Given the description of an element on the screen output the (x, y) to click on. 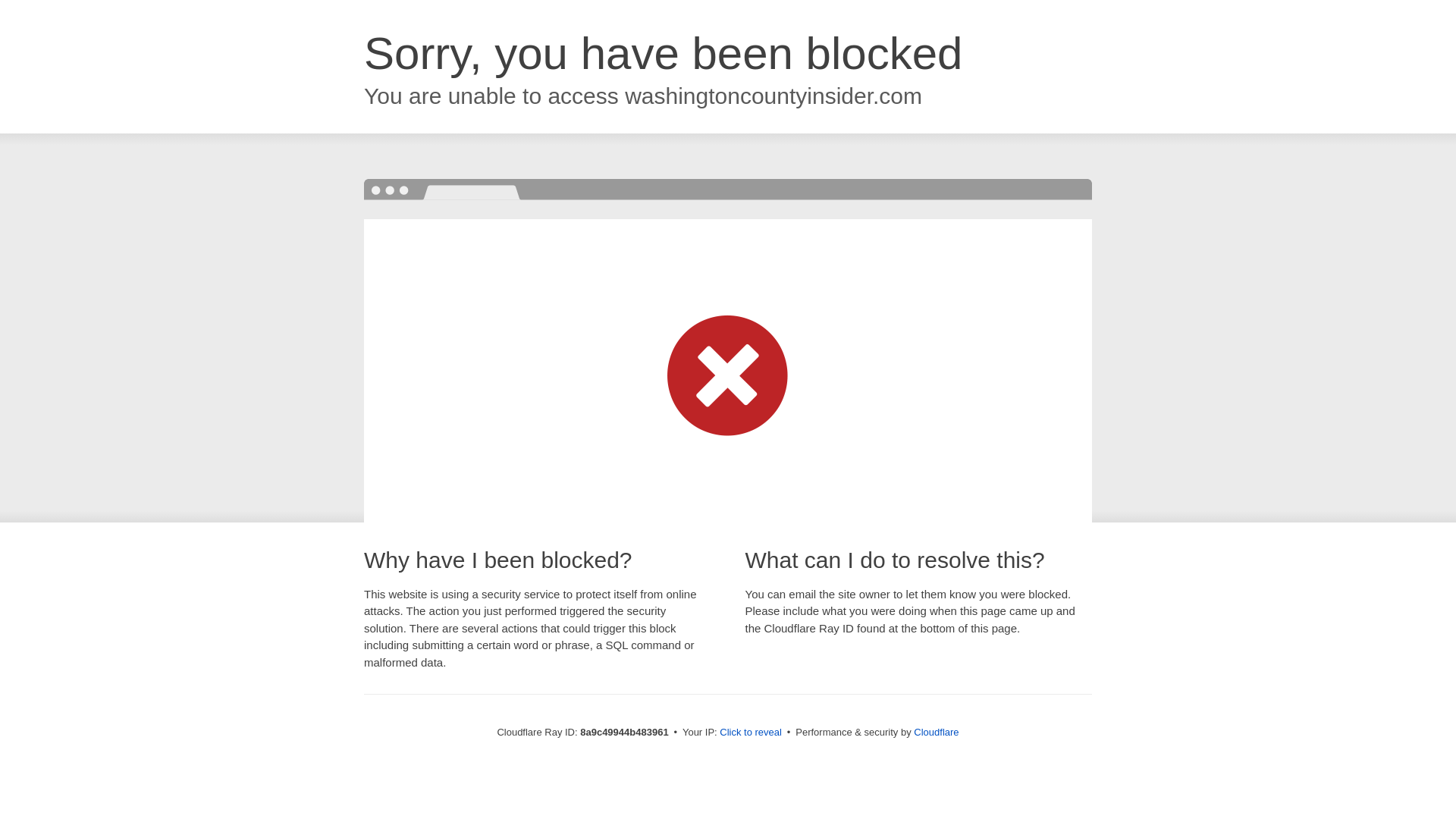
Cloudflare (936, 731)
Click to reveal (750, 732)
